Given the description of an element on the screen output the (x, y) to click on. 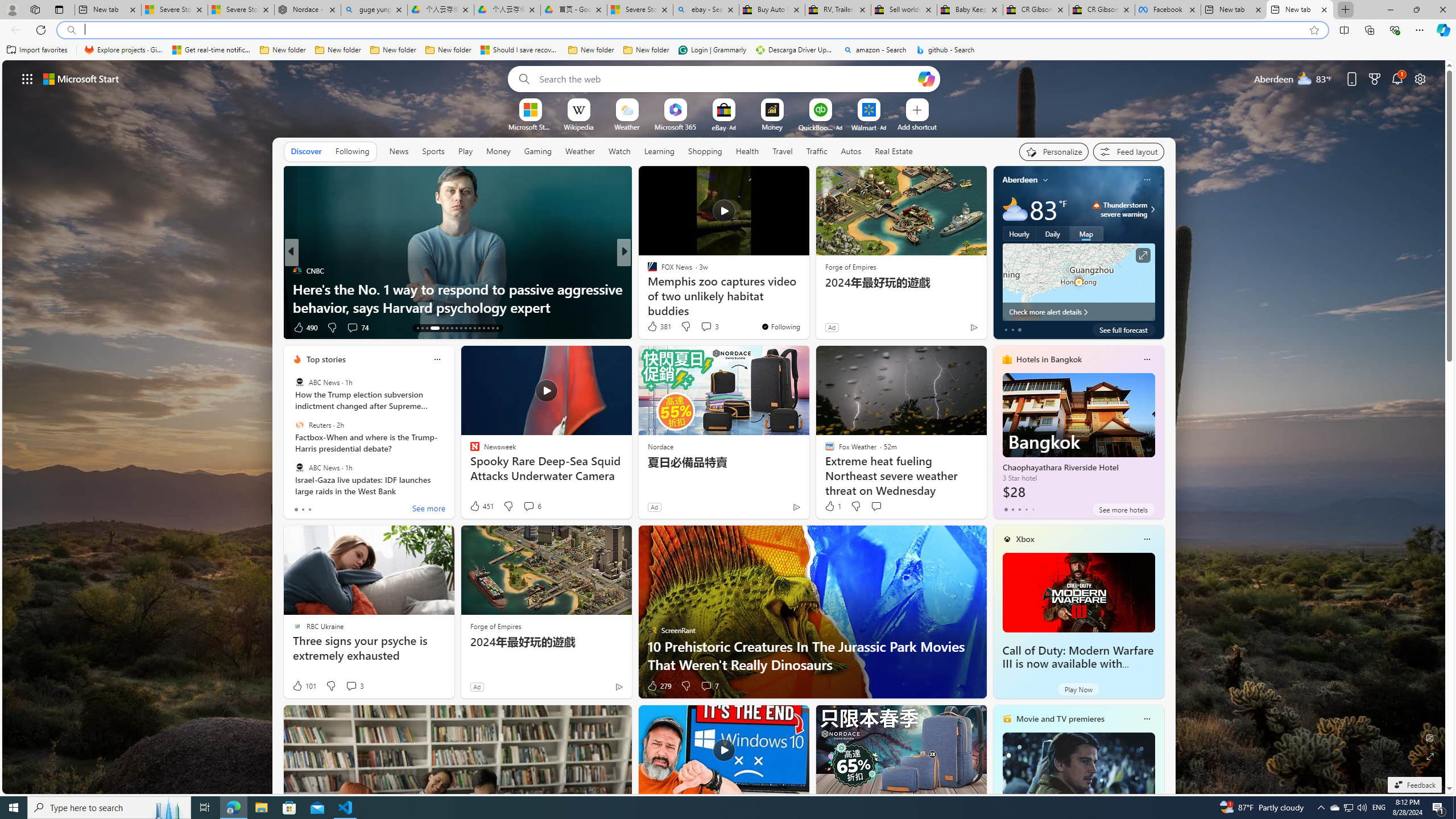
13 Like (652, 327)
Check more alert details (1077, 311)
Autos (851, 151)
See more hotels (1123, 509)
Thunderstorm - Severe Thunderstorm severe warning (1119, 208)
View comments 4 Comment (705, 327)
78 Like (652, 327)
Weather (579, 151)
Login | Grammarly (712, 49)
69 Like (652, 327)
Learning (658, 151)
View comments 3 Comment (350, 685)
